Given the description of an element on the screen output the (x, y) to click on. 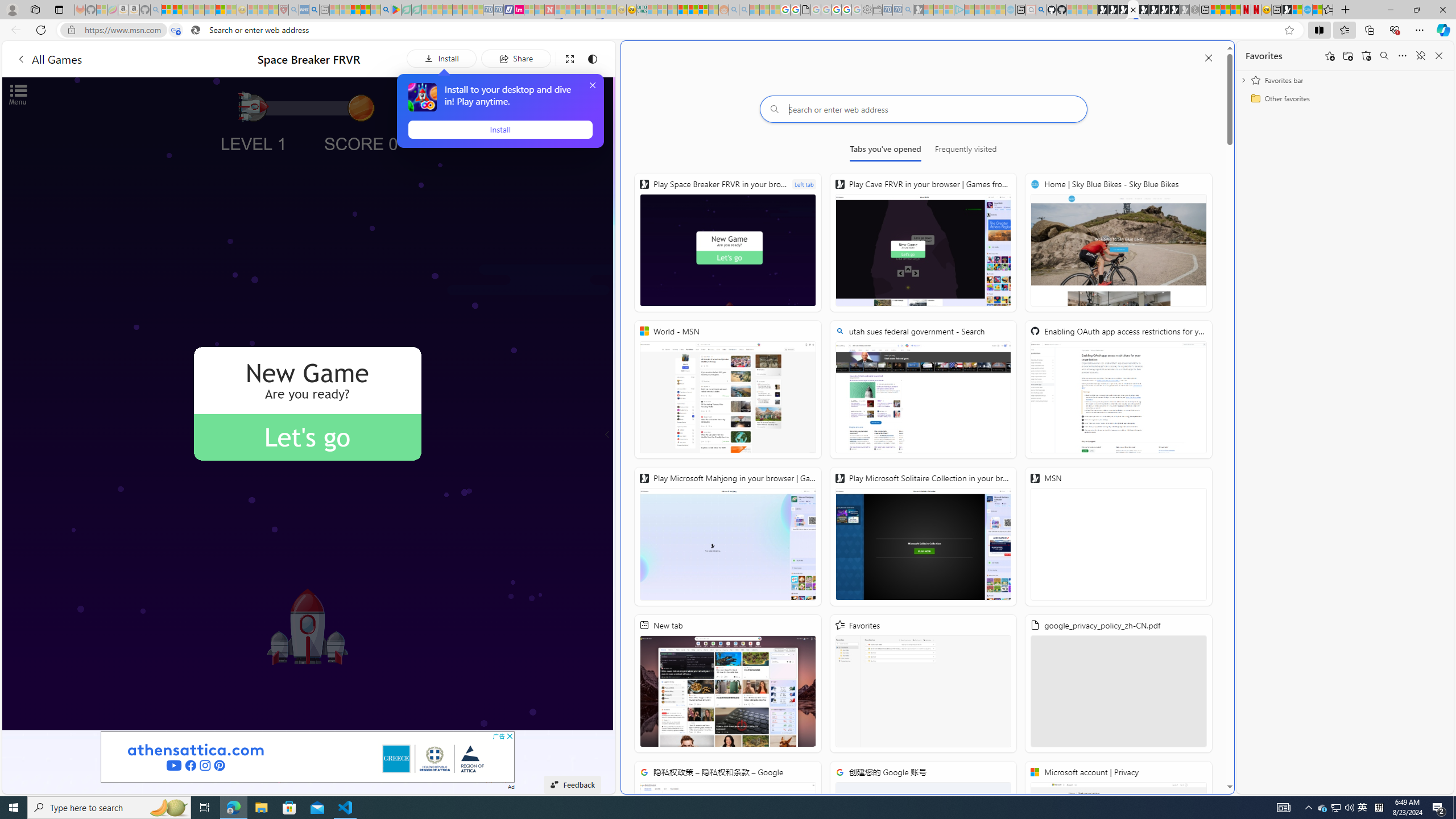
Pets - MSN (365, 9)
google_privacy_policy_zh-CN.pdf (804, 9)
Tabs in split screen (175, 29)
